Given the description of an element on the screen output the (x, y) to click on. 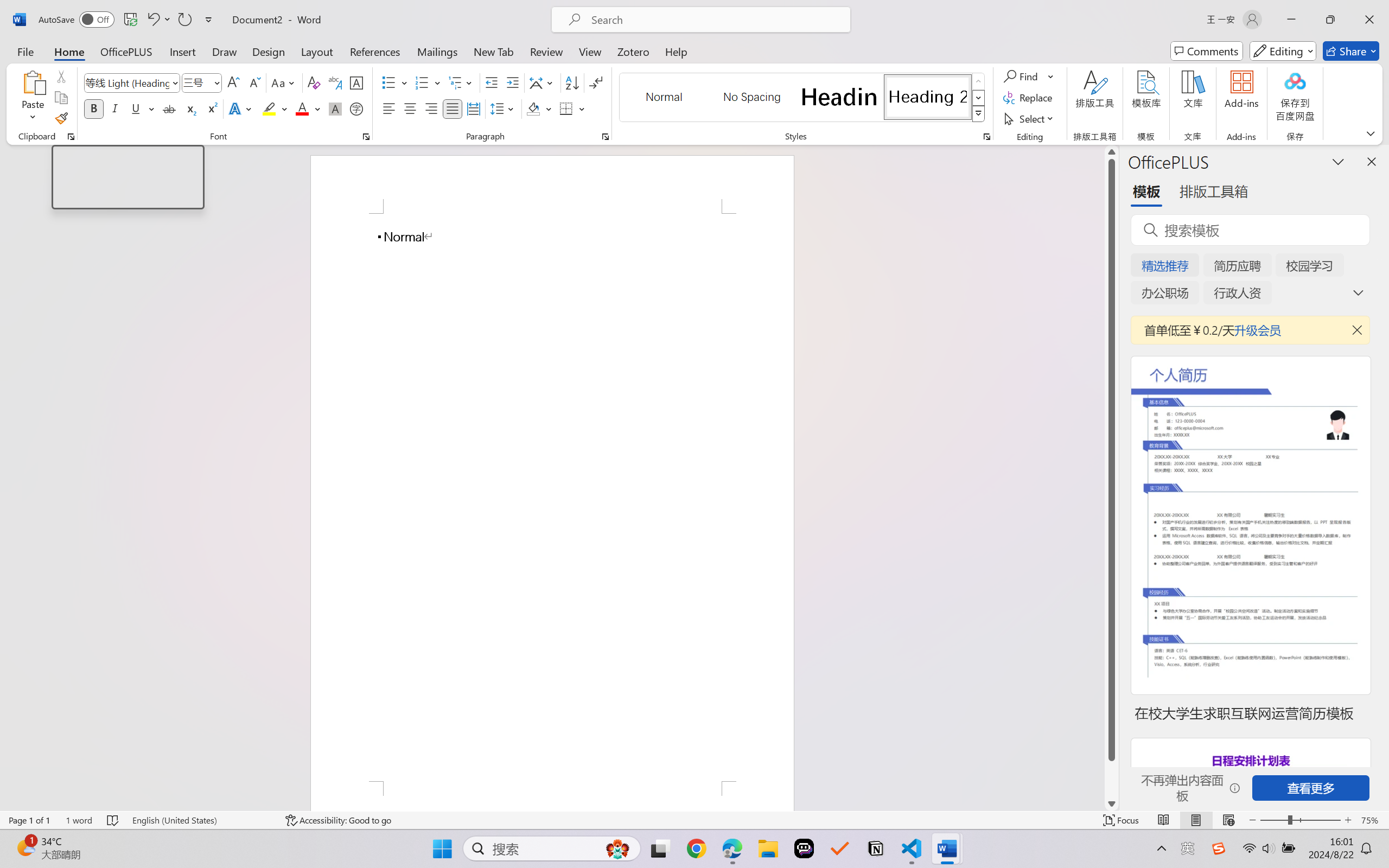
Superscript (210, 108)
Multilevel List (461, 82)
Text Highlight Color Yellow (269, 108)
Sort... (571, 82)
Show/Hide Editing Marks (595, 82)
Review (546, 51)
Restore Down (1330, 19)
Shading RGB(0, 0, 0) (533, 108)
Office Clipboard... (70, 136)
Justify (452, 108)
Open (215, 82)
Change Case (284, 82)
